Given the description of an element on the screen output the (x, y) to click on. 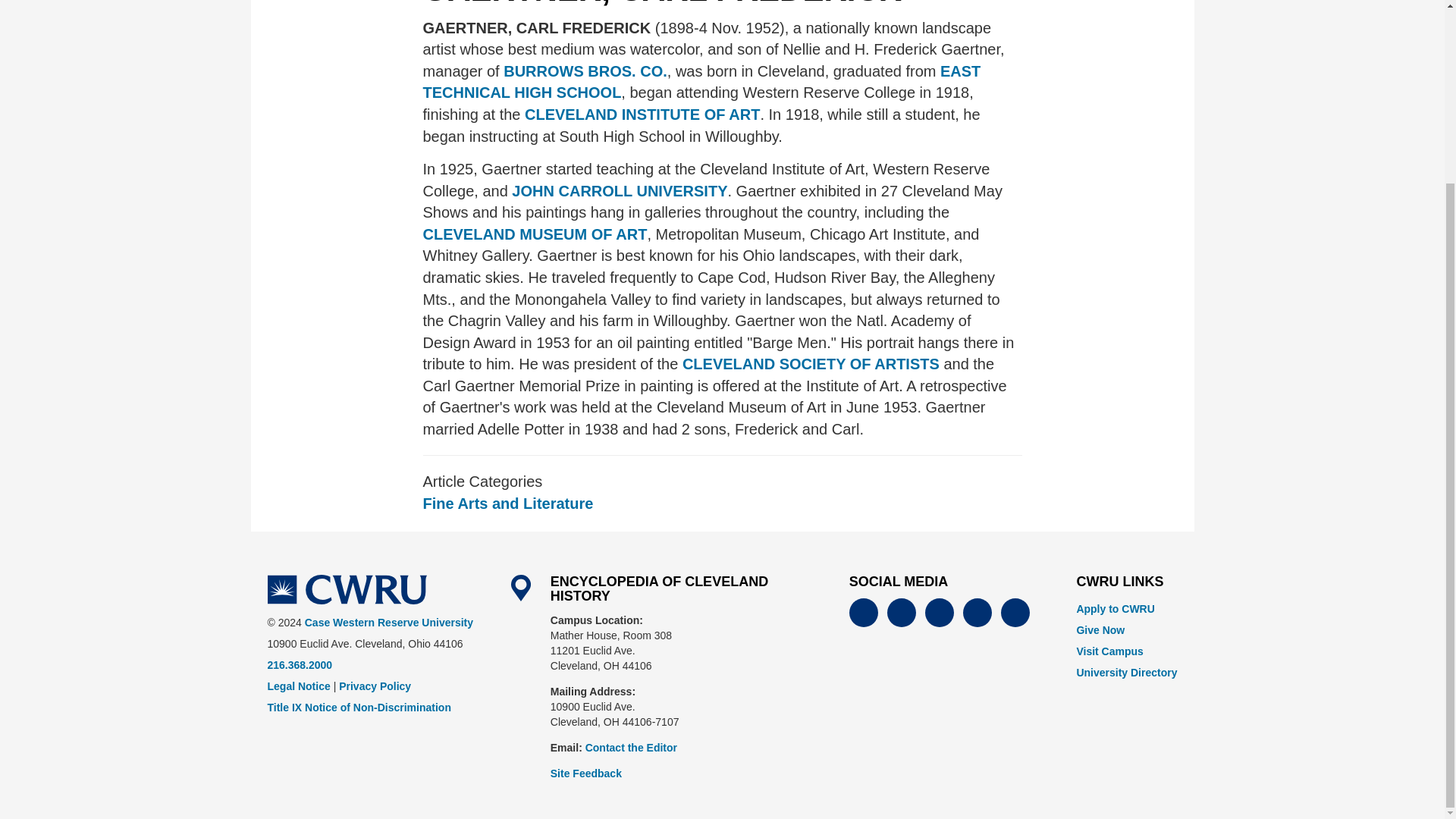
CLEVELAND MUSEUM OF ART (535, 234)
CWRU Facebook (862, 612)
JOHN CARROLL UNIVERSITY (618, 190)
CWRU Pinterest (1015, 612)
BURROWS BROS. CO. (584, 71)
CWRU Youtube (938, 612)
Case Western Reserve University (346, 589)
EAST TECHNICAL HIGH SCHOOL (702, 82)
CLEVELAND INSTITUTE OF ART (642, 114)
CWRU Instagram (976, 612)
